Given the description of an element on the screen output the (x, y) to click on. 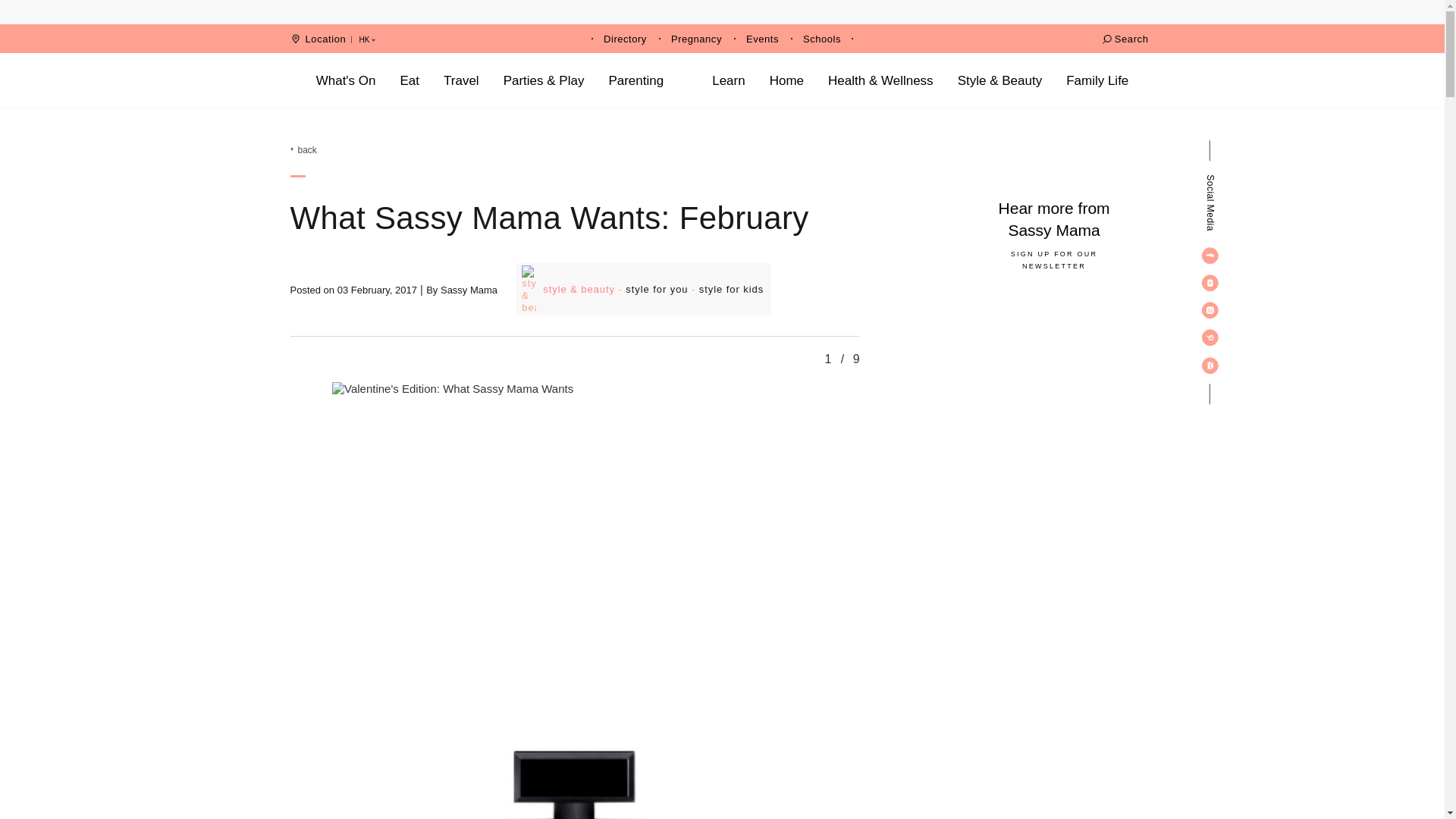
Sassy Mama Instagram (1209, 309)
Eat (410, 80)
Sassy Mama Youtube (1209, 282)
Schools (822, 39)
Sassy Mama Pinterest (1209, 337)
Pregnancy (696, 39)
Sassy Mama Facebook Page (1209, 255)
Directory (625, 39)
Events (761, 39)
Travel (461, 80)
What's On (345, 80)
